Given the description of an element on the screen output the (x, y) to click on. 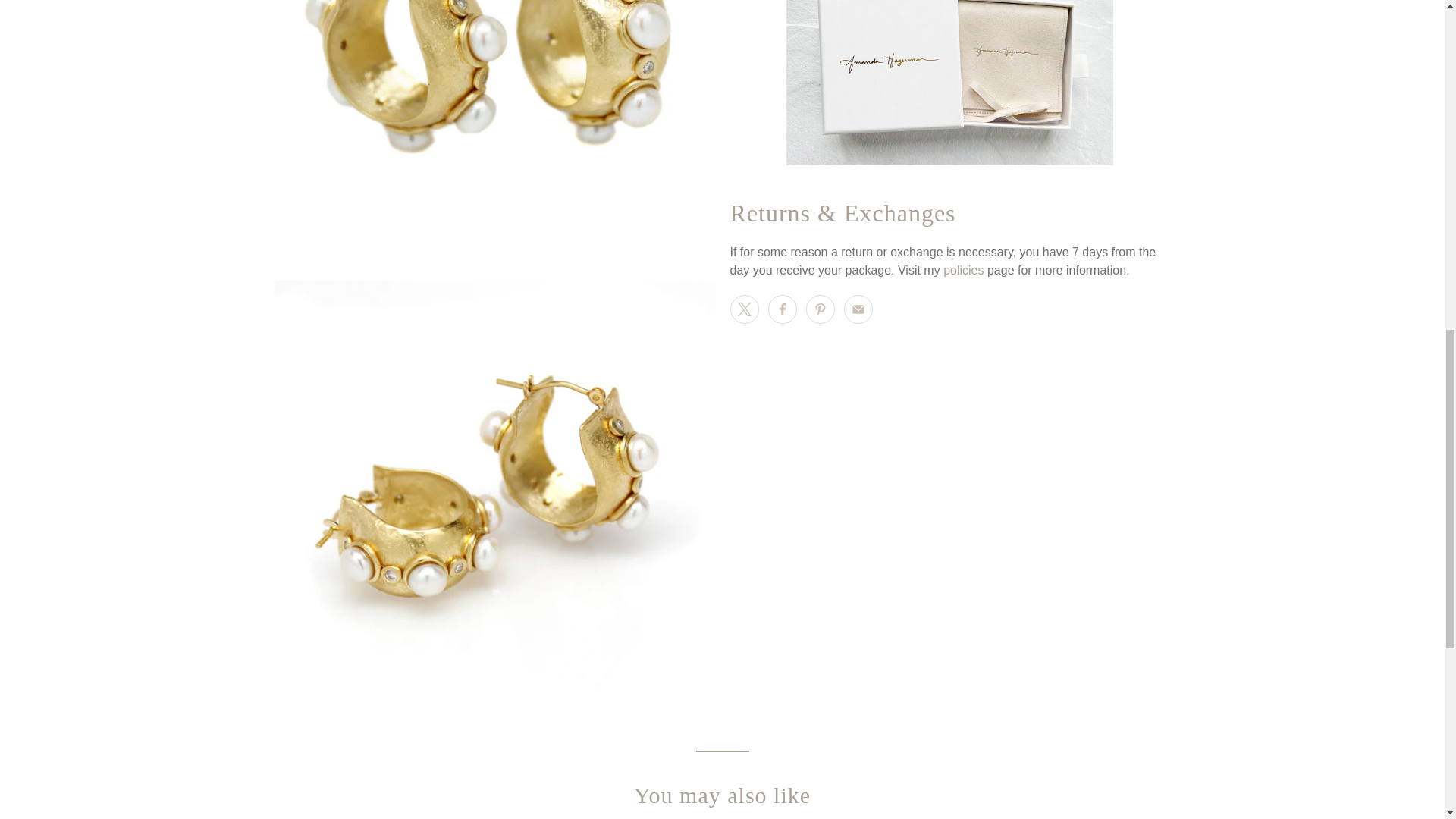
Share this on X (743, 308)
Email this to a friend (857, 308)
Share this on Pinterest (819, 308)
Policies (963, 269)
Share this on Facebook (781, 308)
